Given the description of an element on the screen output the (x, y) to click on. 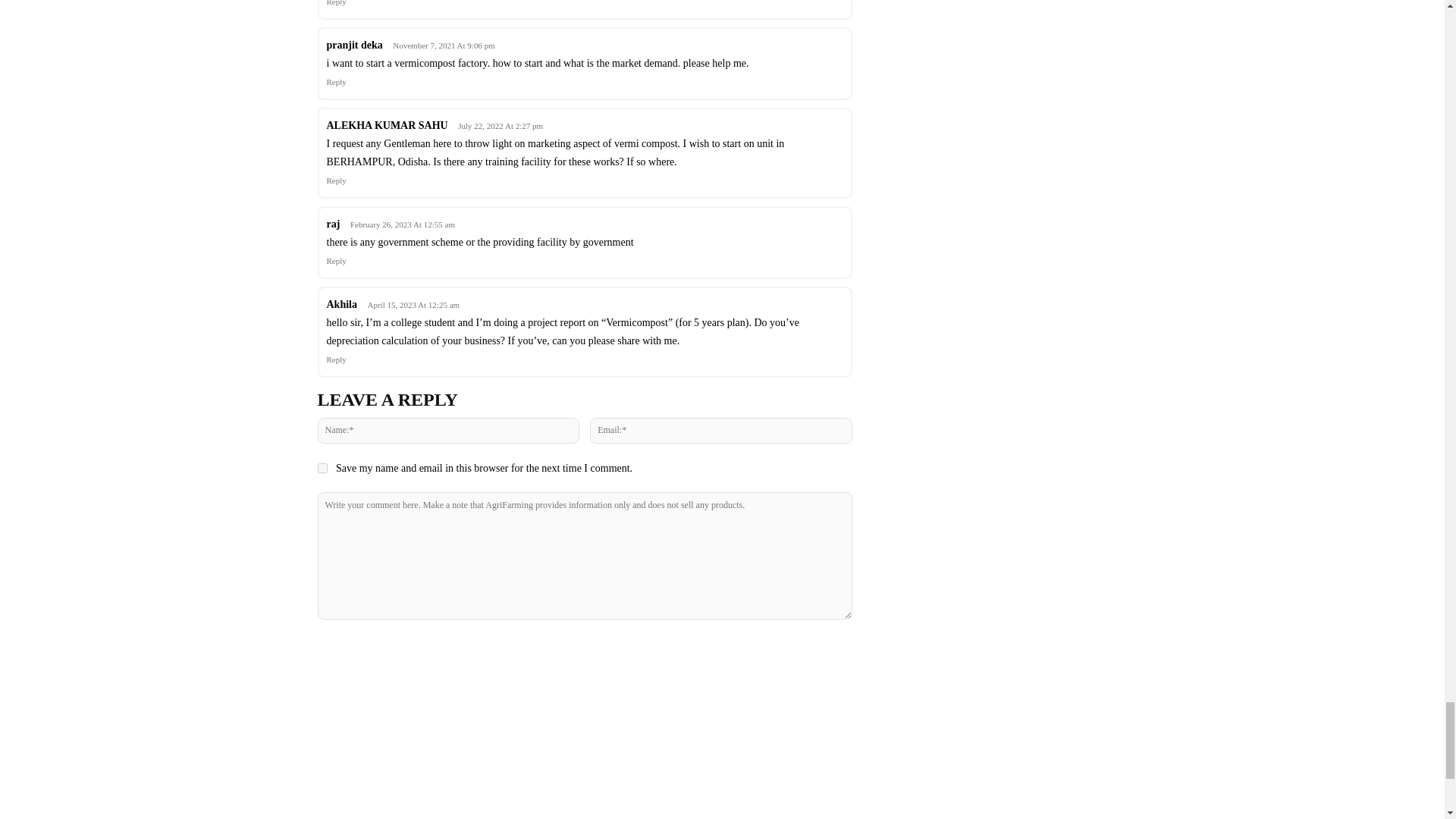
Post Comment (584, 649)
yes (321, 468)
